Given the description of an element on the screen output the (x, y) to click on. 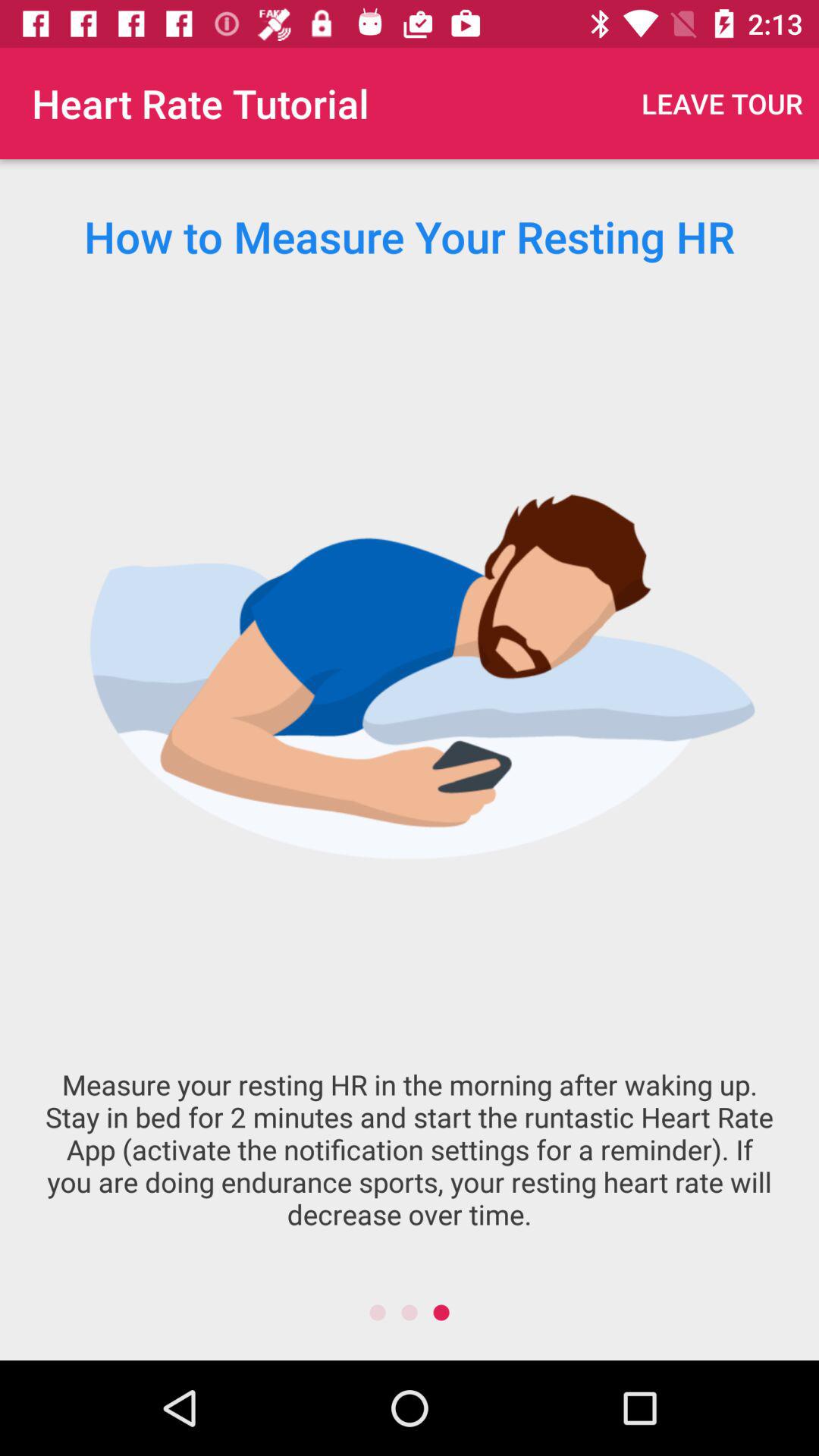
scroll until leave tour item (722, 103)
